Given the description of an element on the screen output the (x, y) to click on. 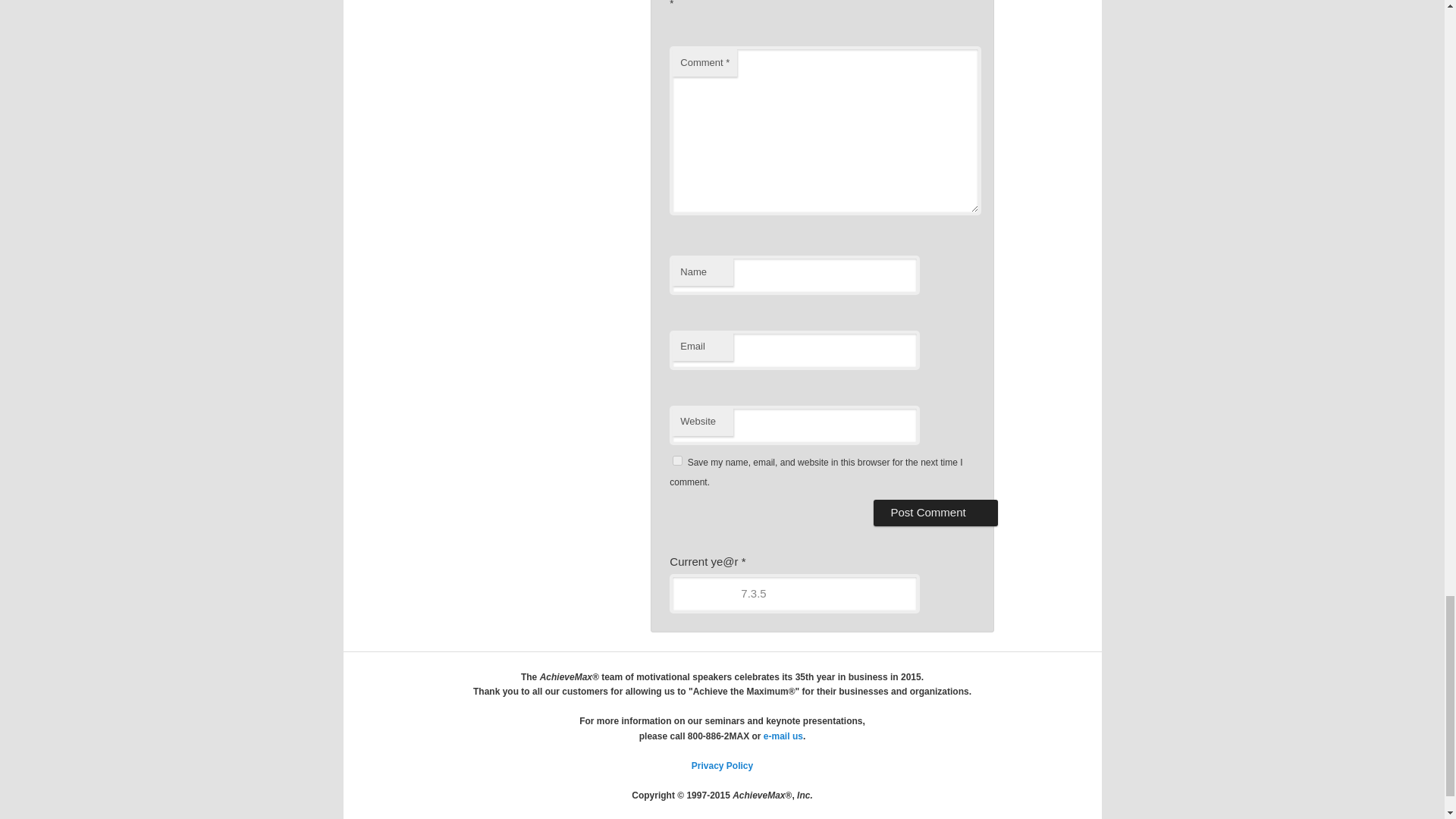
7.3.5 (794, 593)
yes (677, 460)
Post Comment (935, 512)
